Given the description of an element on the screen output the (x, y) to click on. 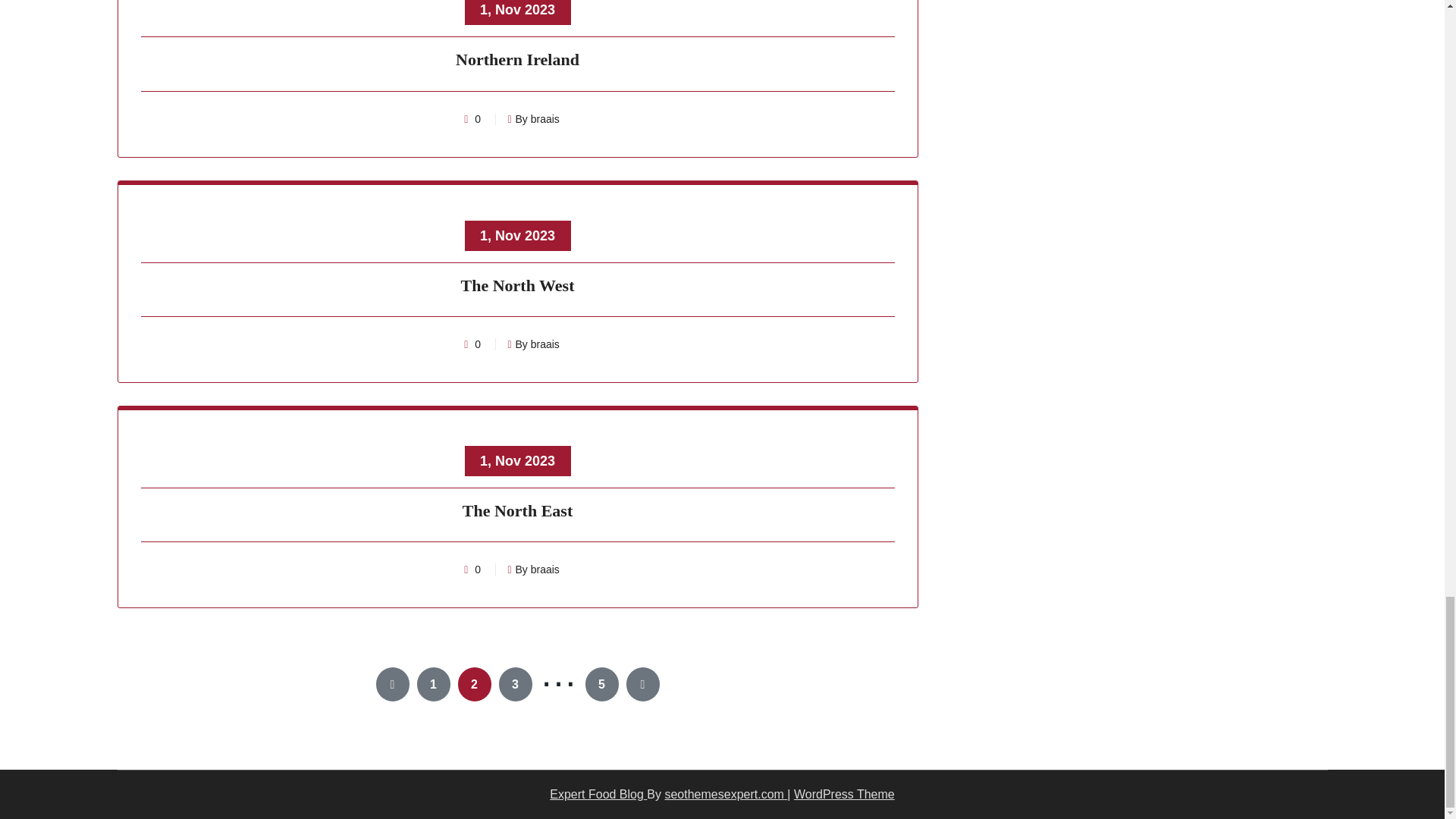
By braais (532, 119)
0 (478, 344)
The North West (518, 287)
0 (478, 119)
Northern Ireland (518, 62)
